Given the description of an element on the screen output the (x, y) to click on. 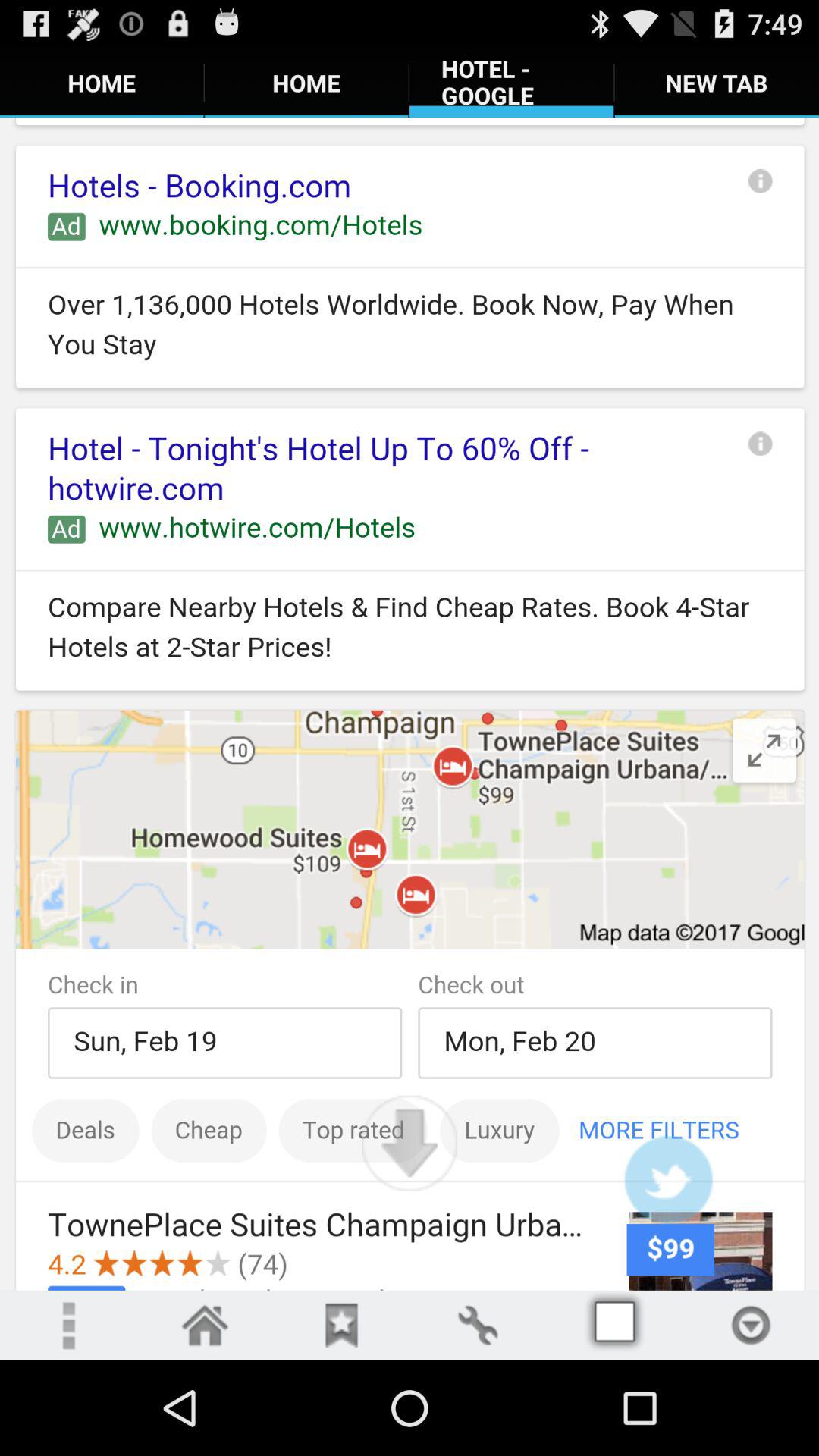
page down (409, 1142)
